Given the description of an element on the screen output the (x, y) to click on. 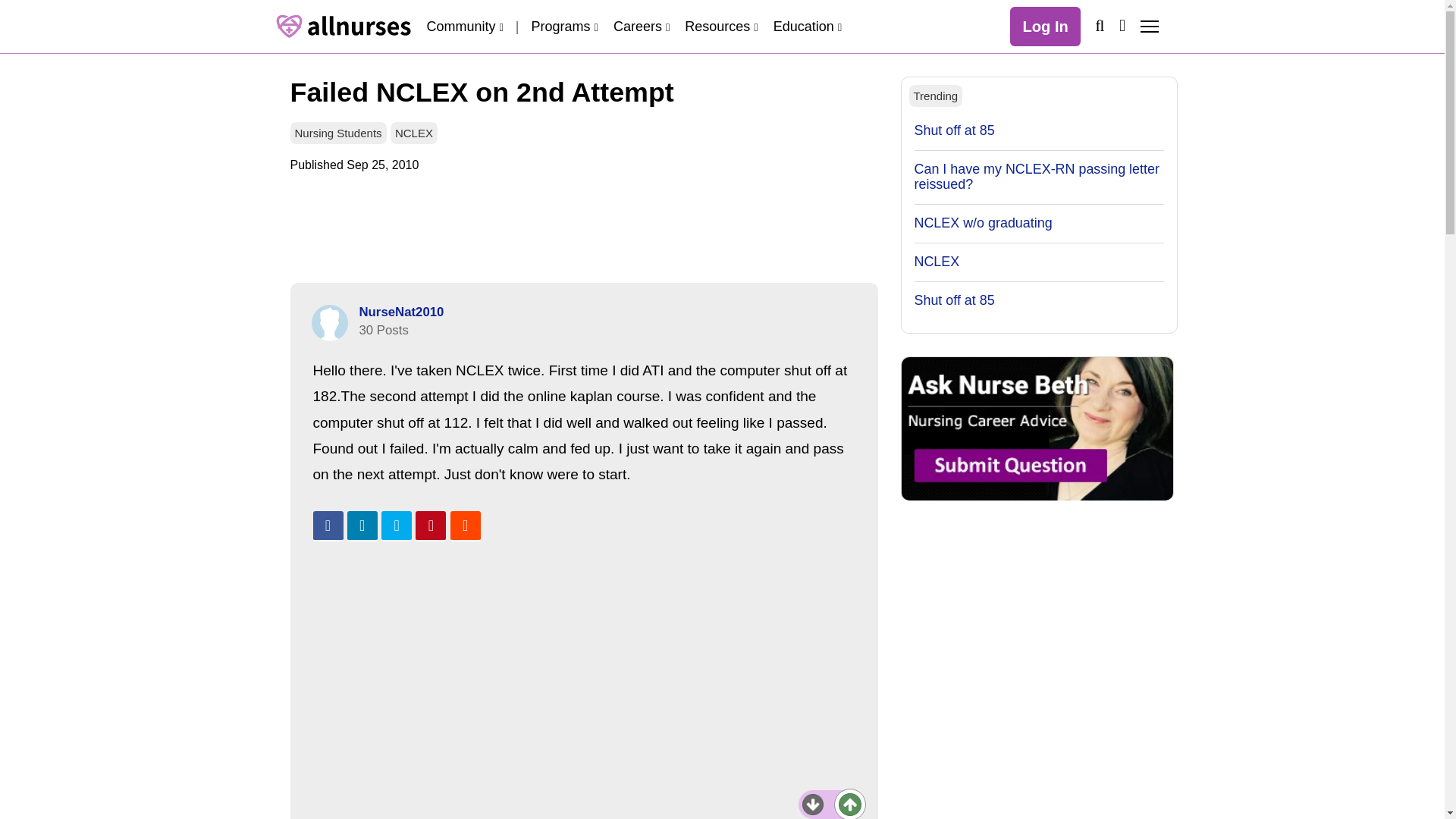
Share on Pinterest (429, 526)
Up-to-date information on nursing programs in the U.S. (564, 26)
Down Vote (813, 803)
Share on LinkedIn (362, 526)
Community (465, 26)
Share on Reddit (464, 526)
Share on Facebook (327, 526)
Go to NurseNat2010's profile (329, 322)
Programs (564, 26)
